Given the description of an element on the screen output the (x, y) to click on. 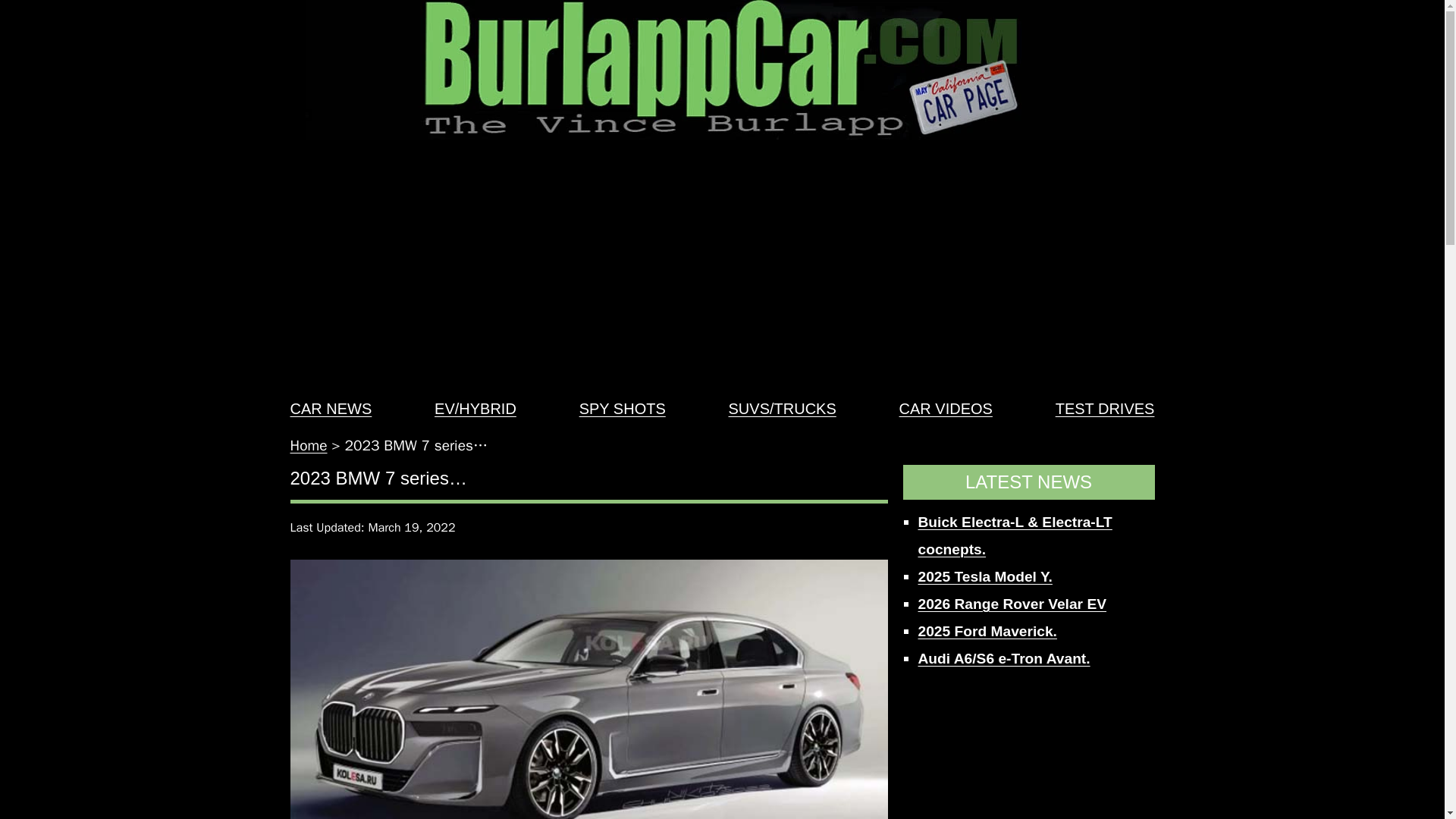
TEST DRIVES (1104, 408)
2025 Ford Maverick. (987, 631)
Advertisement (1028, 752)
SPY SHOTS (622, 408)
2025 Ford Maverick. (987, 631)
Home (307, 445)
2025 Tesla Model Y. (984, 576)
CAR VIDEOS (945, 408)
2026 Range Rover Velar EV (1011, 603)
2026 Range Rover Velar EV (1011, 603)
2025 Tesla Model Y. (984, 576)
CAR NEWS (330, 408)
